Given the description of an element on the screen output the (x, y) to click on. 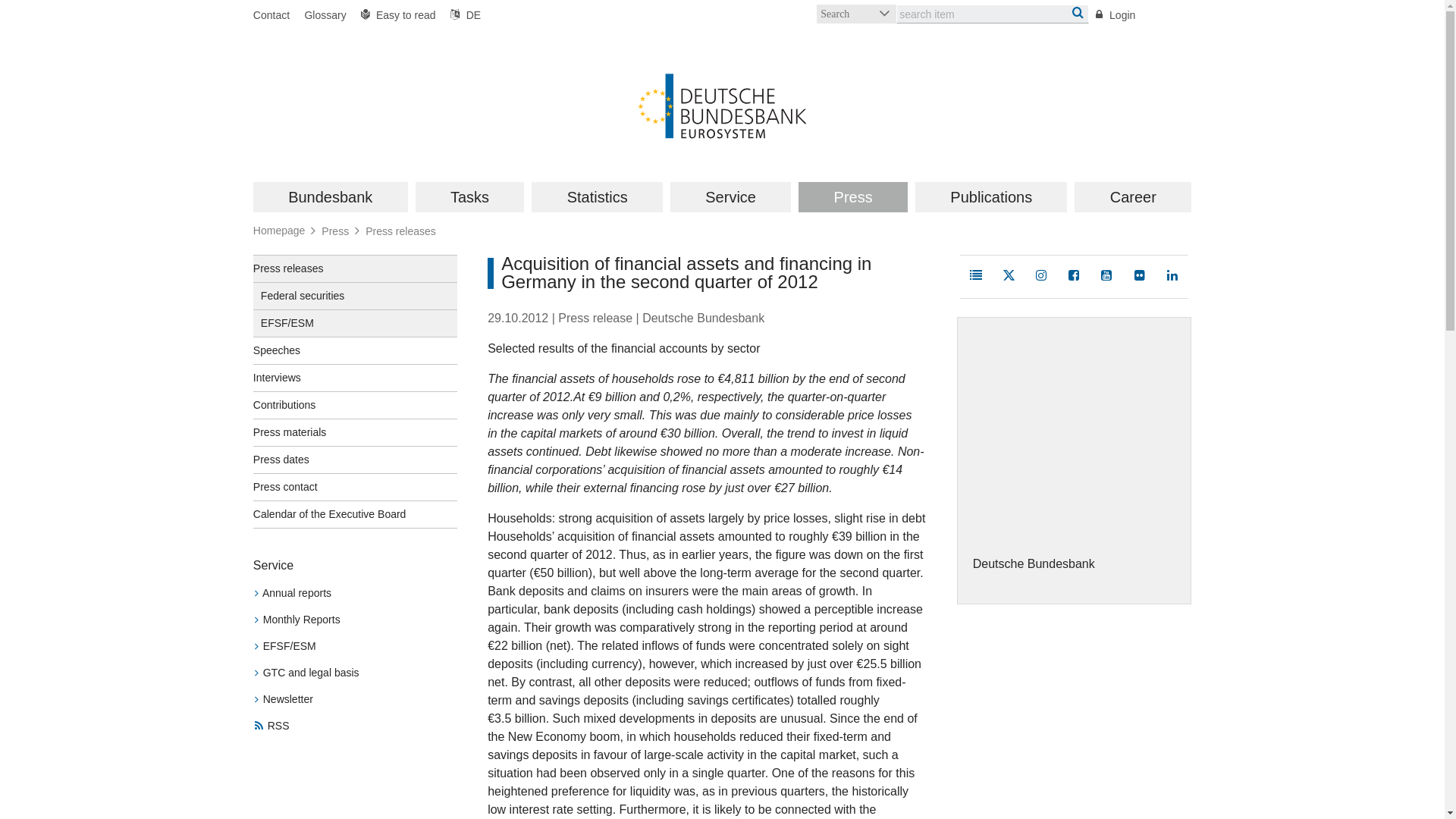
Search (856, 13)
DE (462, 15)
Login (1115, 15)
Contact (274, 15)
Easy to read (398, 15)
Login (1115, 15)
Easy to read (398, 15)
Search (856, 13)
Bundesbank (330, 196)
Contact (274, 15)
